Given the description of an element on the screen output the (x, y) to click on. 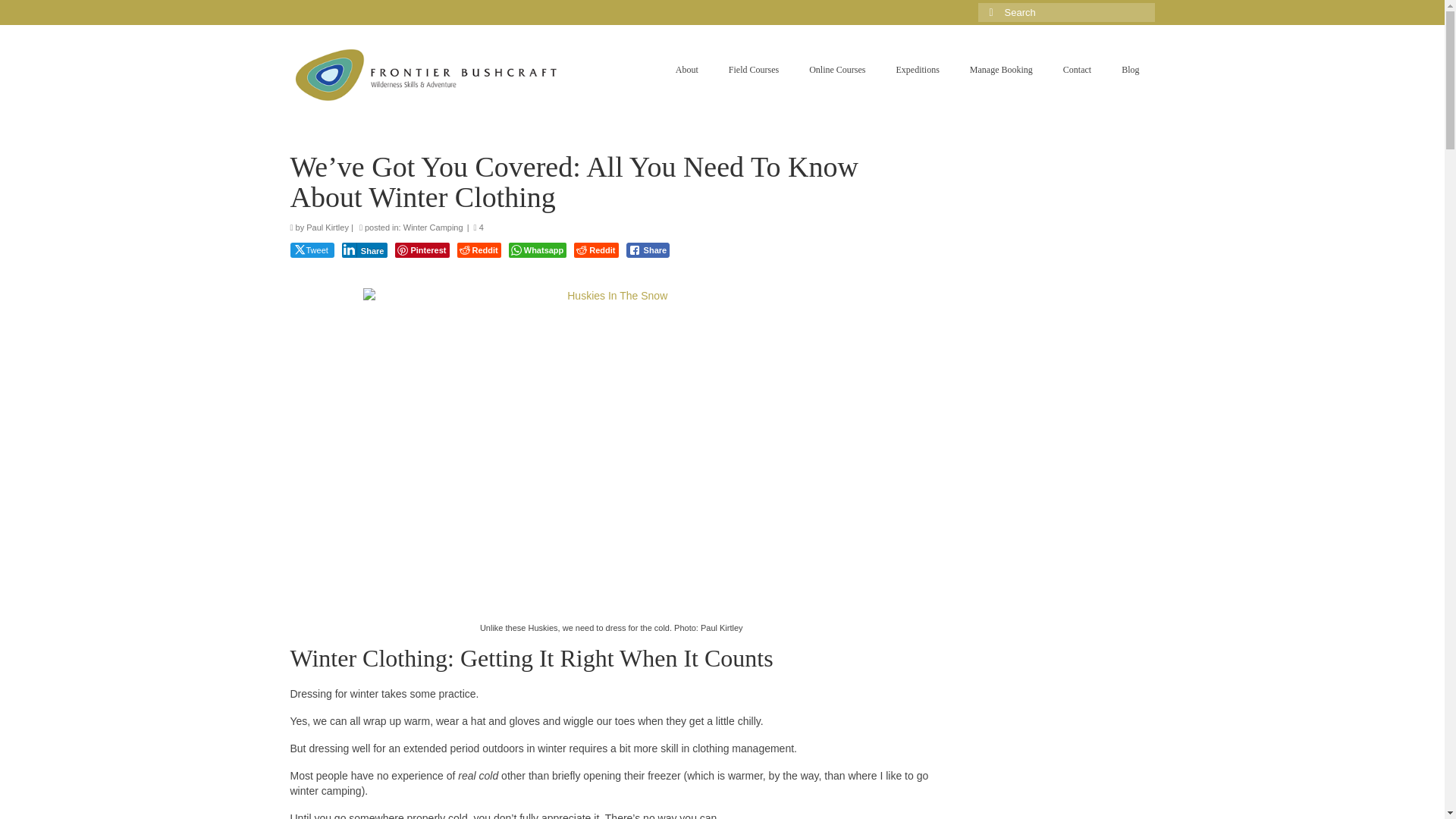
About (687, 69)
Share (647, 249)
Manage Booking (1001, 69)
Whatsapp (537, 249)
Reddit (595, 249)
Frontier Bushcraft (425, 75)
Contact (1077, 69)
Share (365, 249)
Blog (1130, 69)
Winter Camping (433, 226)
